Given the description of an element on the screen output the (x, y) to click on. 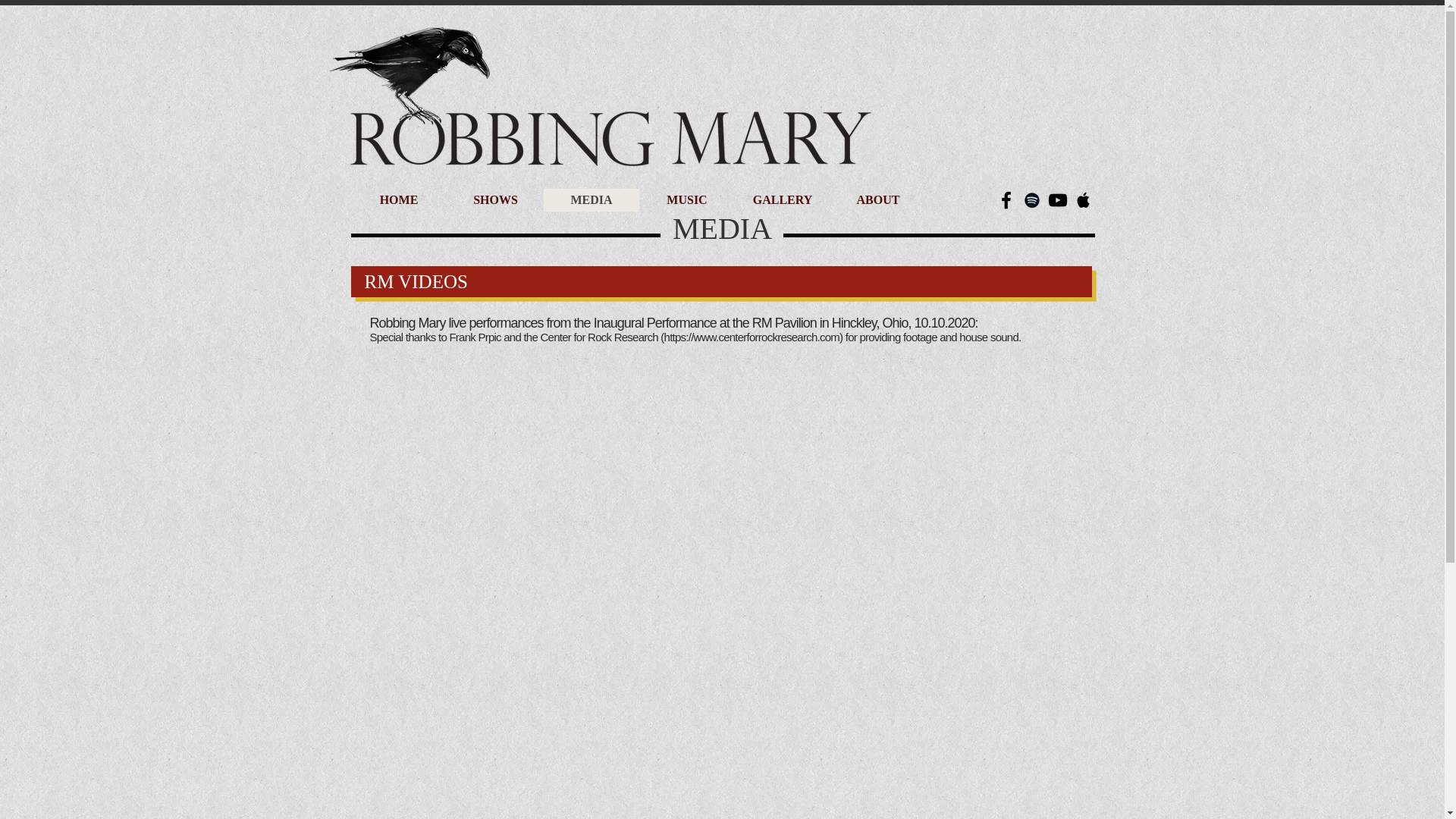
MUSIC (686, 200)
External YouTube (539, 457)
MEDIA (591, 200)
SHOWS (494, 200)
External YouTube (897, 683)
HOME (398, 200)
GALLERY (781, 200)
External YouTube (898, 457)
ABOUT (876, 200)
External YouTube (539, 683)
